Given the description of an element on the screen output the (x, y) to click on. 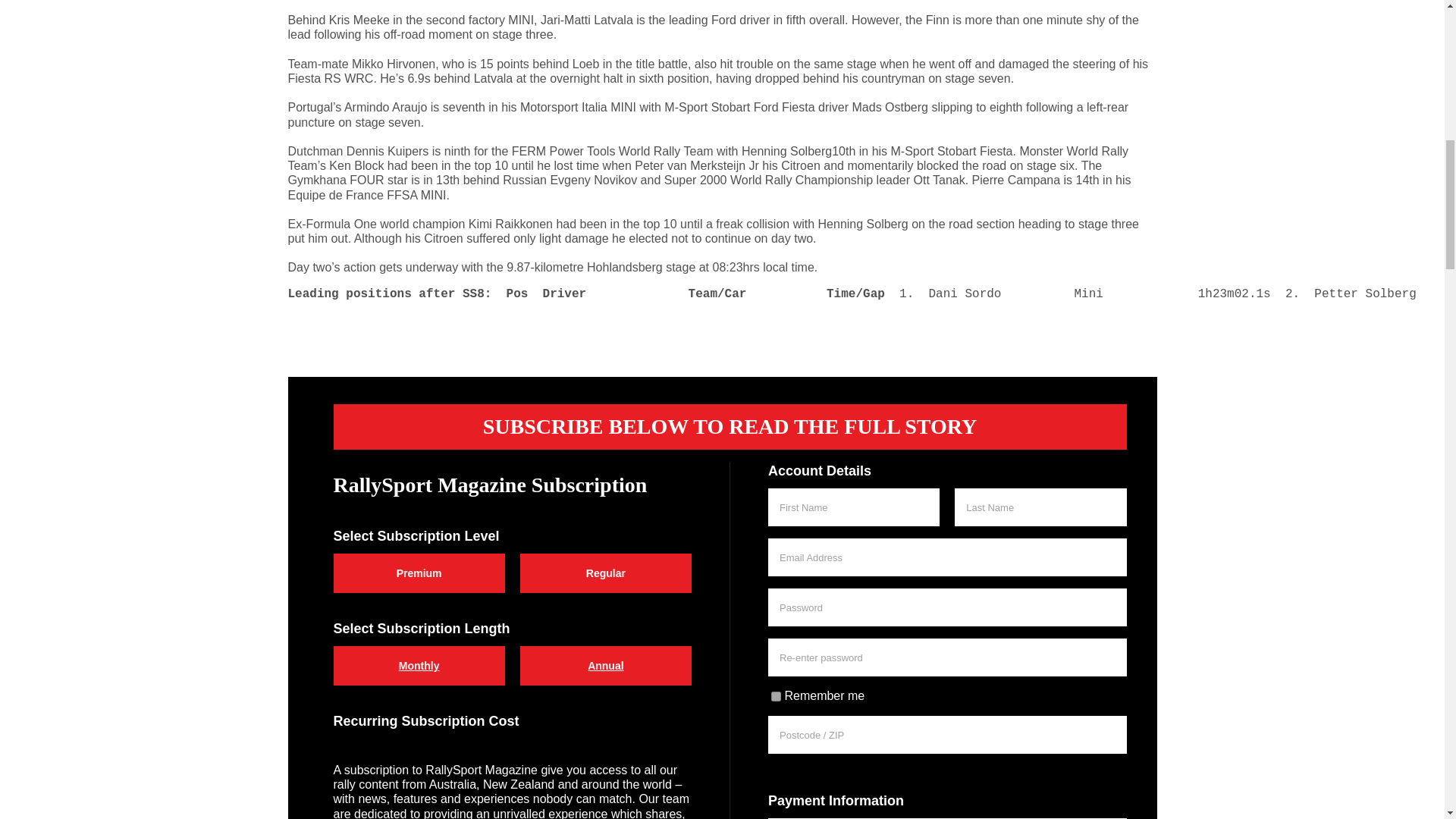
1 (775, 696)
